Given the description of an element on the screen output the (x, y) to click on. 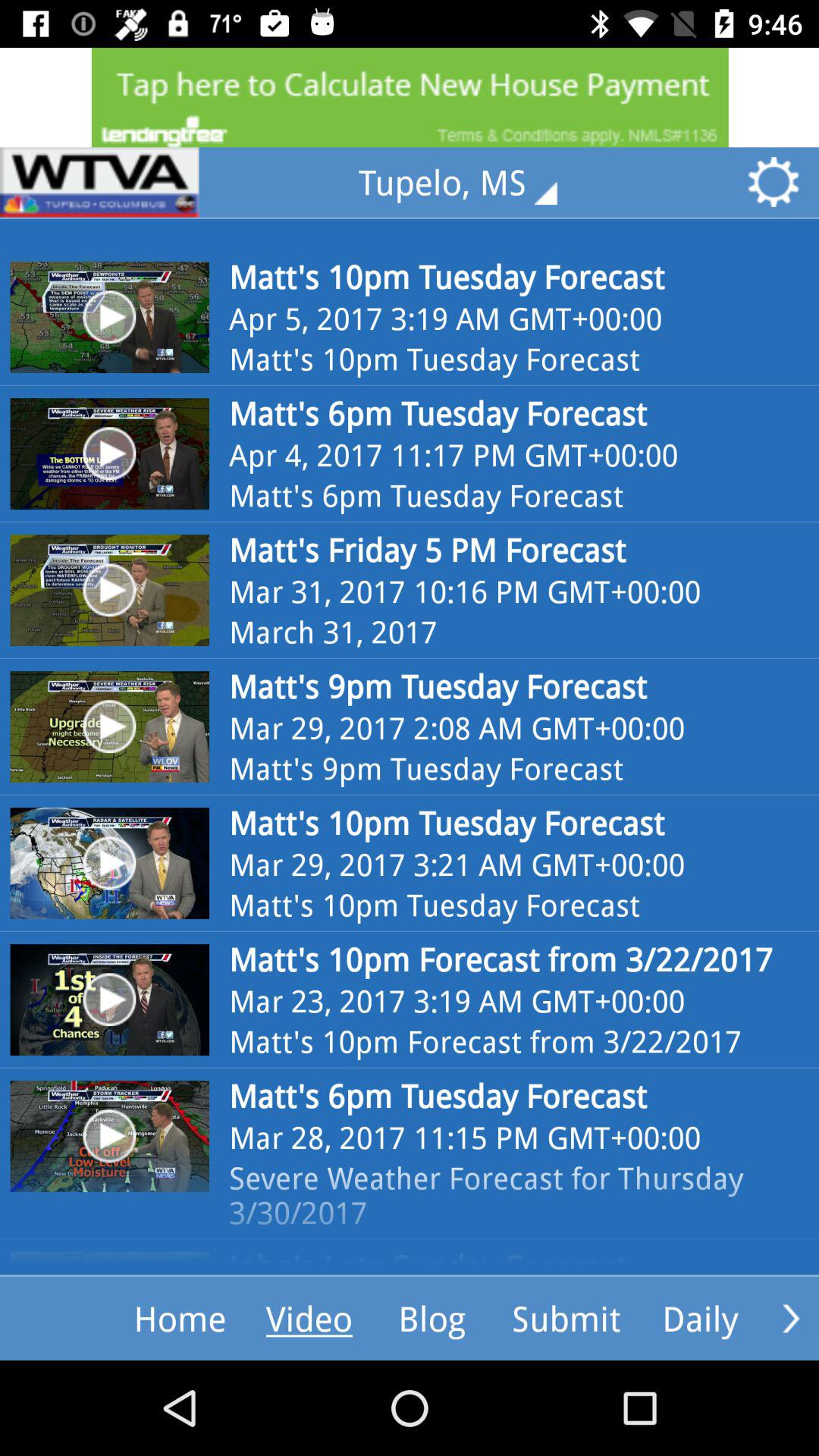
select icon next to the tupelo, ms (99, 182)
